Given the description of an element on the screen output the (x, y) to click on. 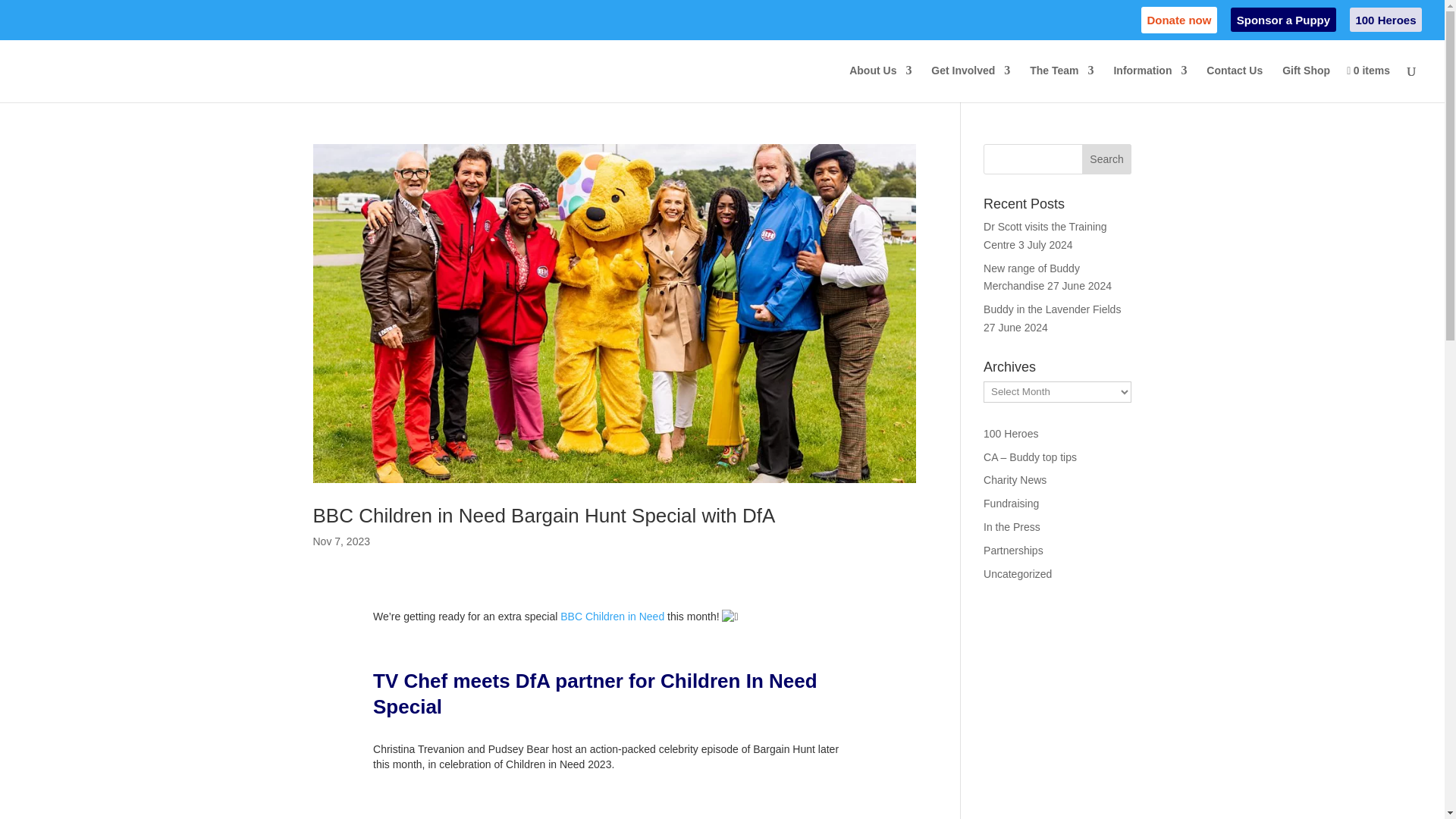
Donate now (1179, 23)
Start shopping (1368, 83)
0 items (1368, 83)
Sponsor a Puppy (1282, 23)
Gift Shop (1306, 82)
Information (1149, 82)
100 Heroes (1385, 23)
Contact Us (1234, 82)
About Us (879, 82)
Search (1106, 159)
Get Involved (970, 82)
The Team (1061, 82)
